Given the description of an element on the screen output the (x, y) to click on. 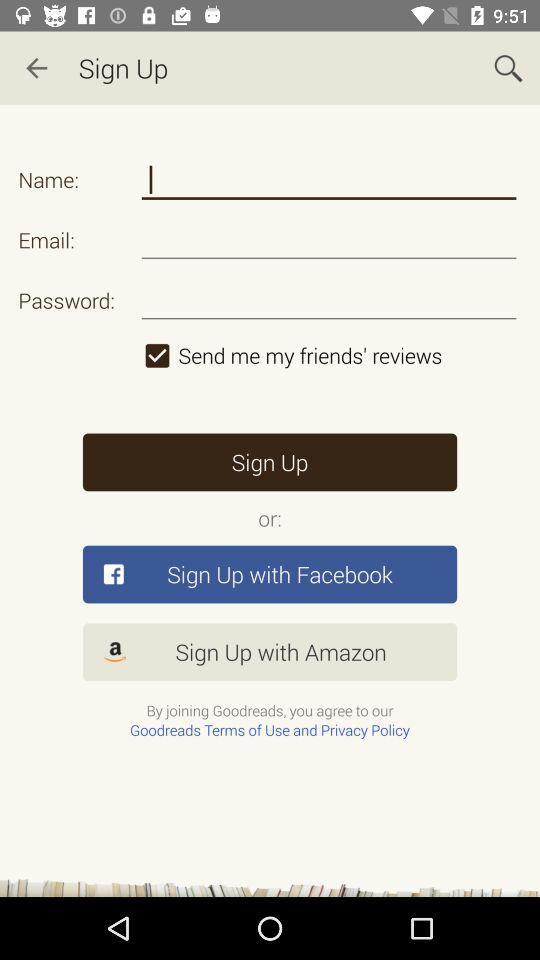
jump until the goodreads terms of (269, 729)
